Given the description of an element on the screen output the (x, y) to click on. 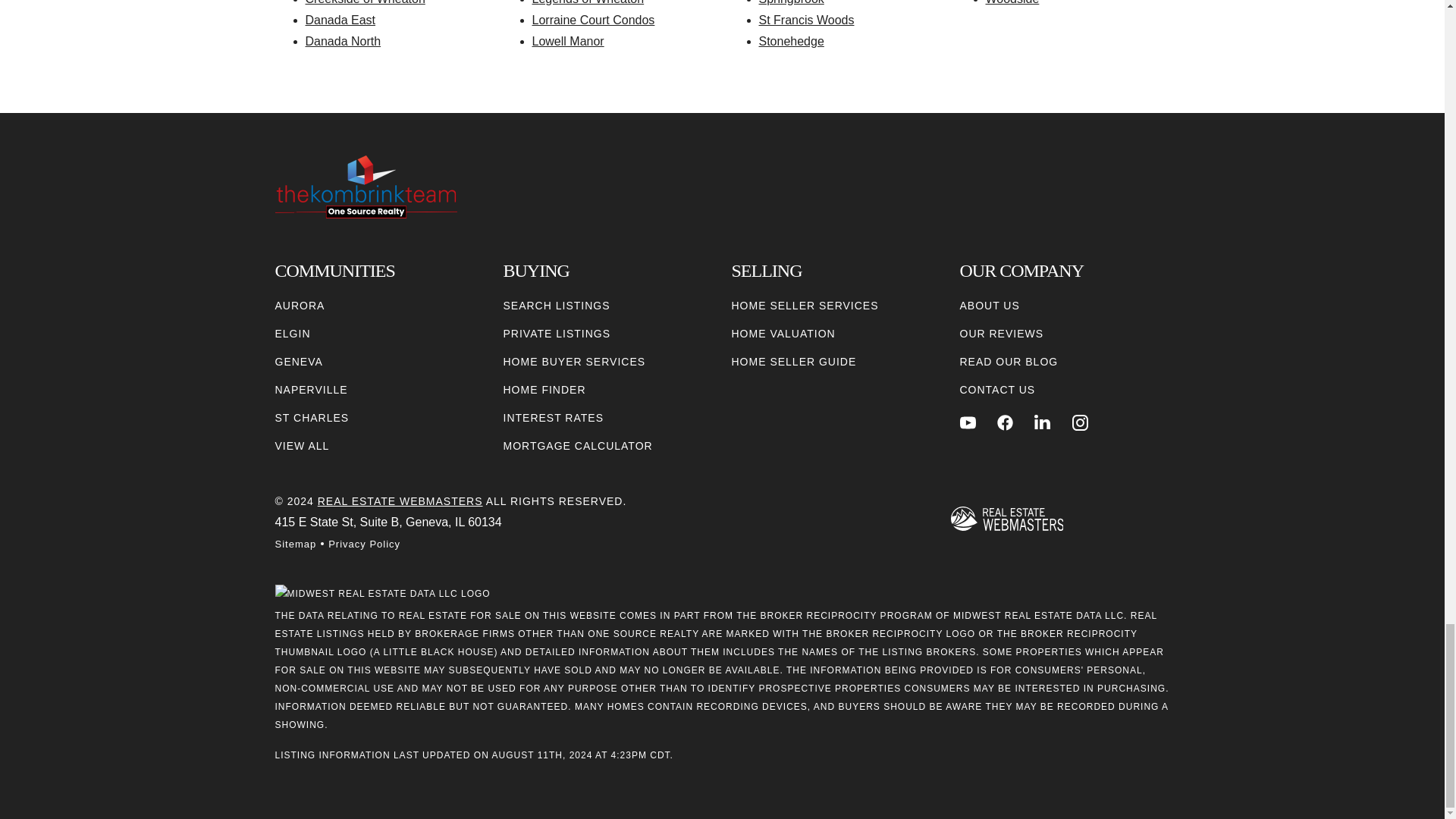
FACEBOOK (1005, 422)
YOUTUBE (967, 422)
LINKEDIN (1041, 422)
